Given the description of an element on the screen output the (x, y) to click on. 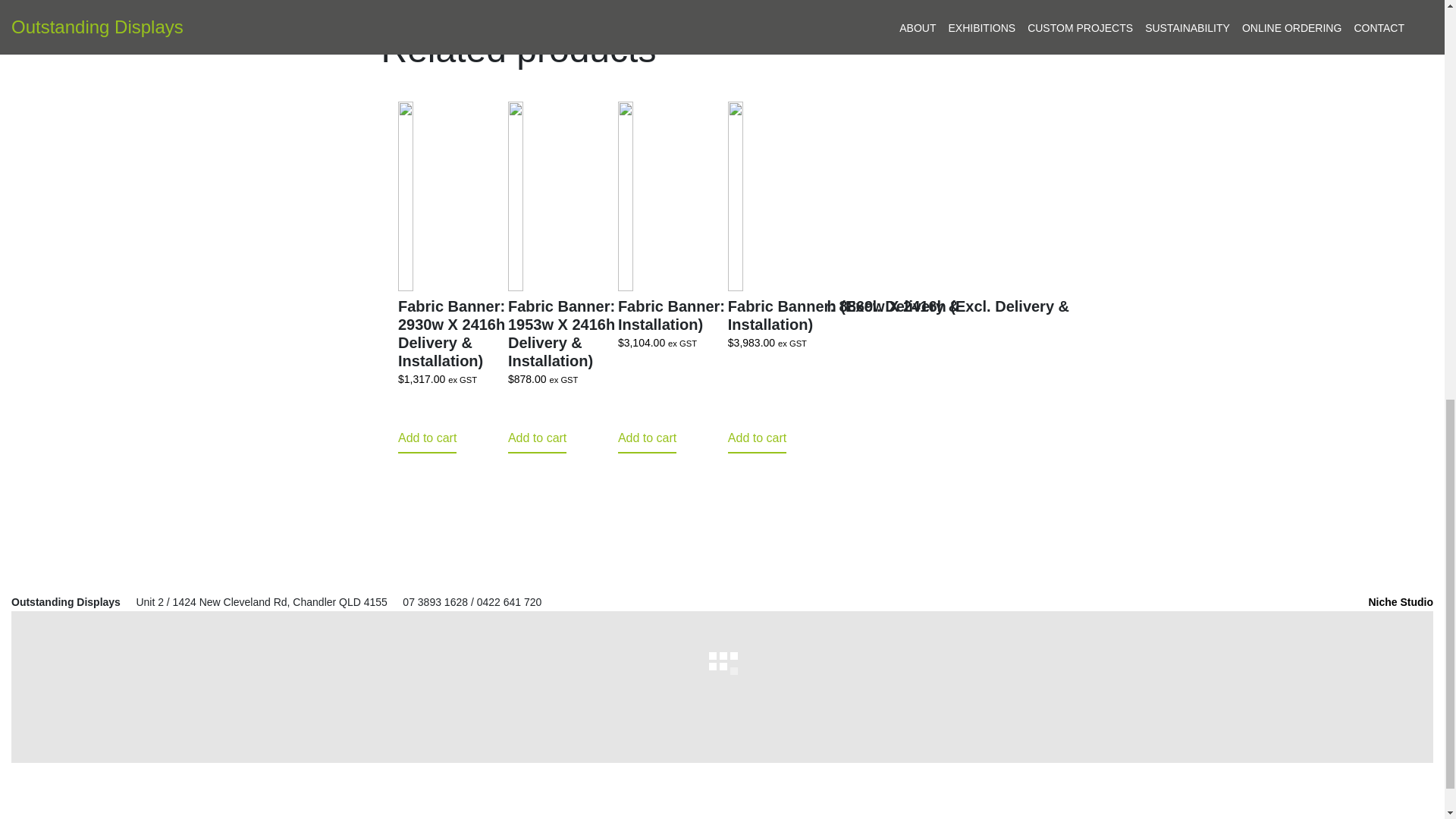
Add to cart (647, 439)
Niche Studio (1400, 602)
Add to cart (537, 439)
Add to cart (427, 439)
Add to cart (757, 439)
